Given the description of an element on the screen output the (x, y) to click on. 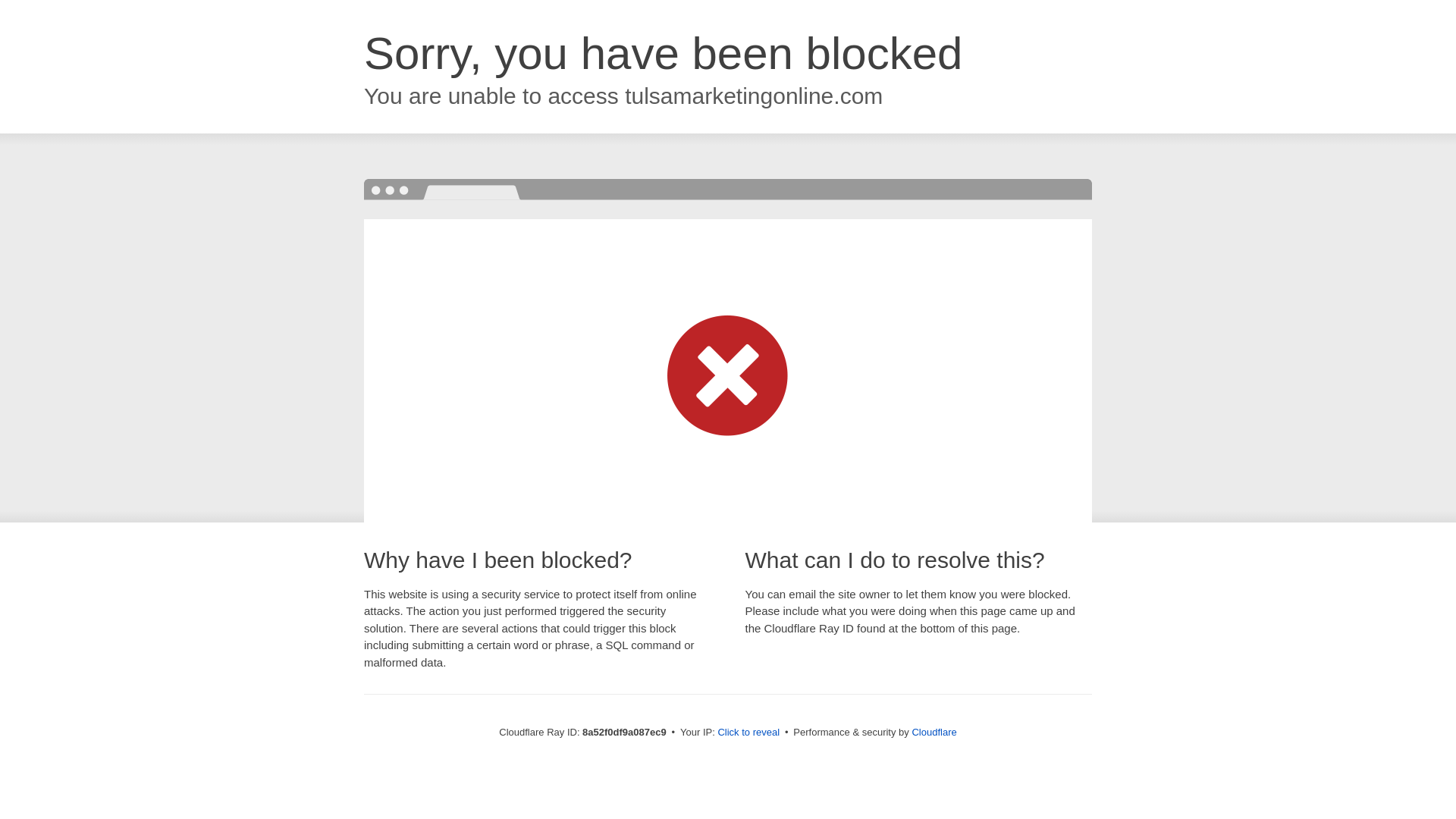
Click to reveal (747, 732)
Cloudflare (933, 731)
